Given the description of an element on the screen output the (x, y) to click on. 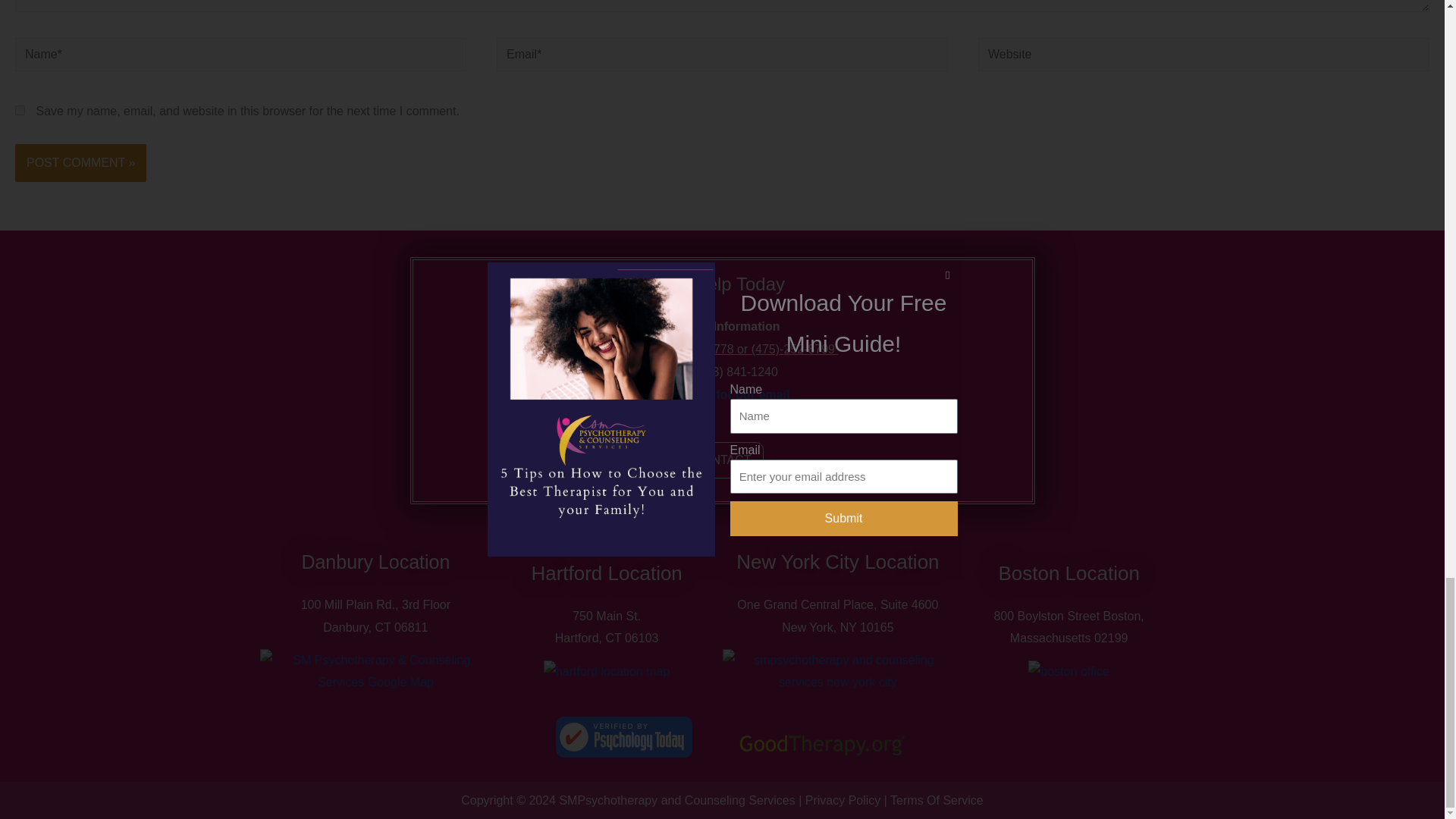
smpsychotherapy and counseling services new york city (837, 671)
yes (19, 110)
boston office (1067, 671)
hartford location (606, 671)
